Given the description of an element on the screen output the (x, y) to click on. 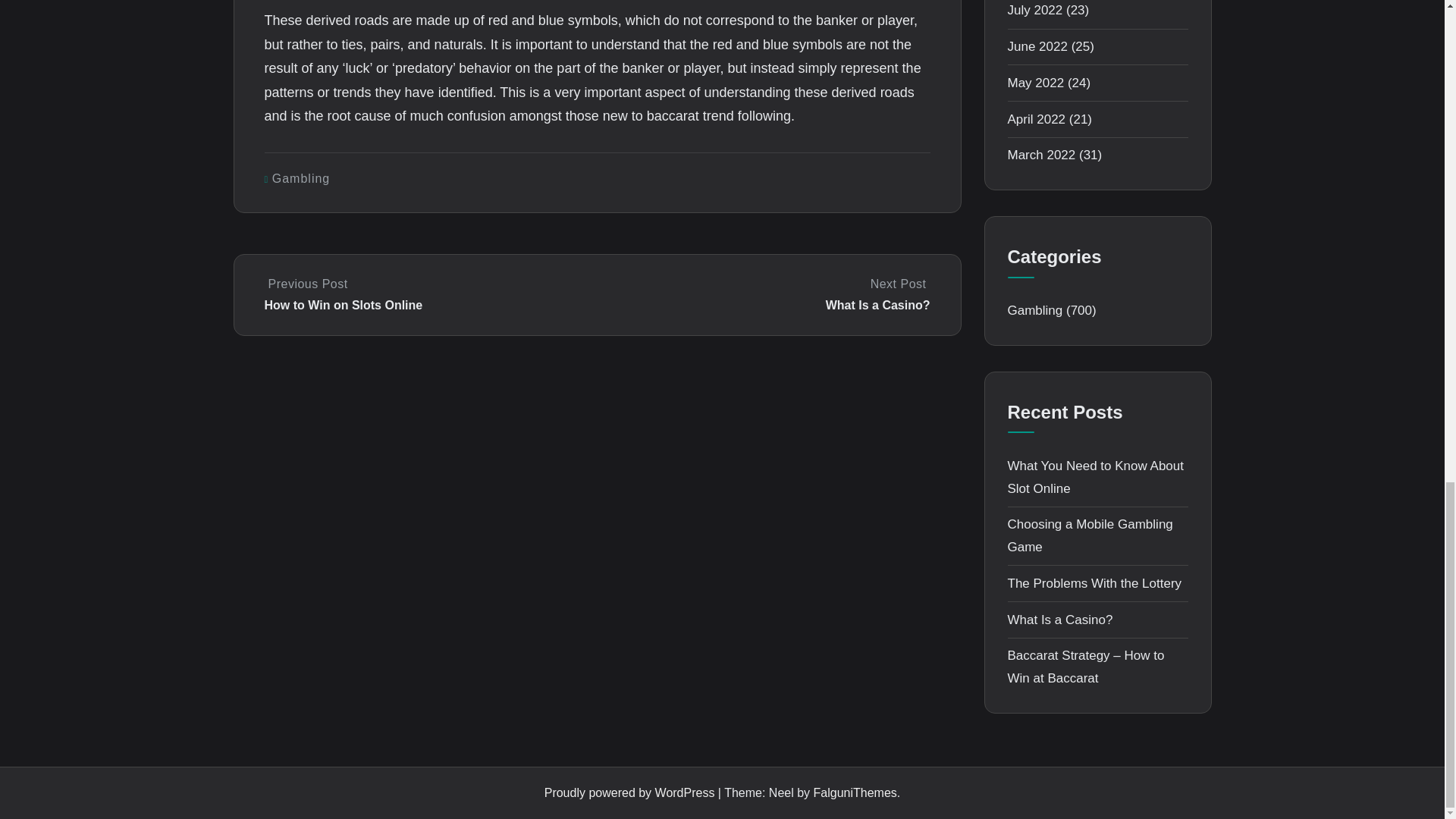
Gambling (301, 178)
July 2022 (764, 294)
